Given the description of an element on the screen output the (x, y) to click on. 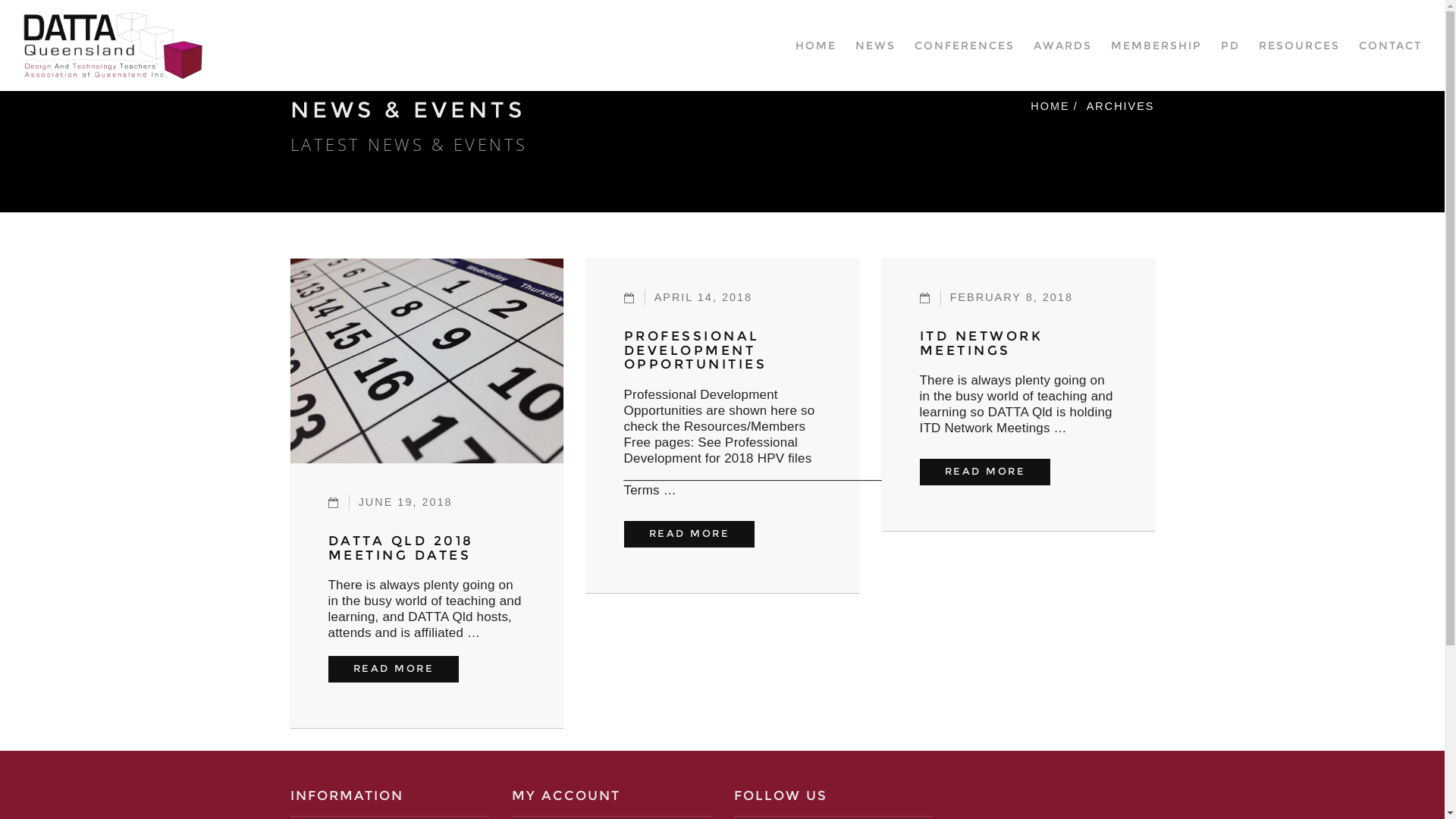
PROFESSIONAL DEVELOPMENT OPPORTUNITIES Element type: text (694, 349)
CONTACT Element type: text (1389, 45)
READ MORE
PROFESSIONAL DEVELOPMENT OPPORTUNITIES Element type: text (688, 533)
DATTA QLD 2018 MEETING DATES Element type: text (400, 547)
CONFERENCES Element type: text (964, 45)
ITD NETWORK MEETINGS Element type: text (980, 342)
NEWS Element type: text (875, 45)
READ MORE
ITD NETWORK MEETINGS Element type: text (984, 471)
HOME Element type: text (1049, 106)
READ MORE
DATTA QLD 2018 MEETING DATES Element type: text (392, 668)
PD Element type: text (1229, 45)
HOME Element type: text (815, 45)
RESOURCES Element type: text (1298, 45)
AWARDS Element type: text (1062, 45)
MEMBERSHIP Element type: text (1155, 45)
